Given the description of an element on the screen output the (x, y) to click on. 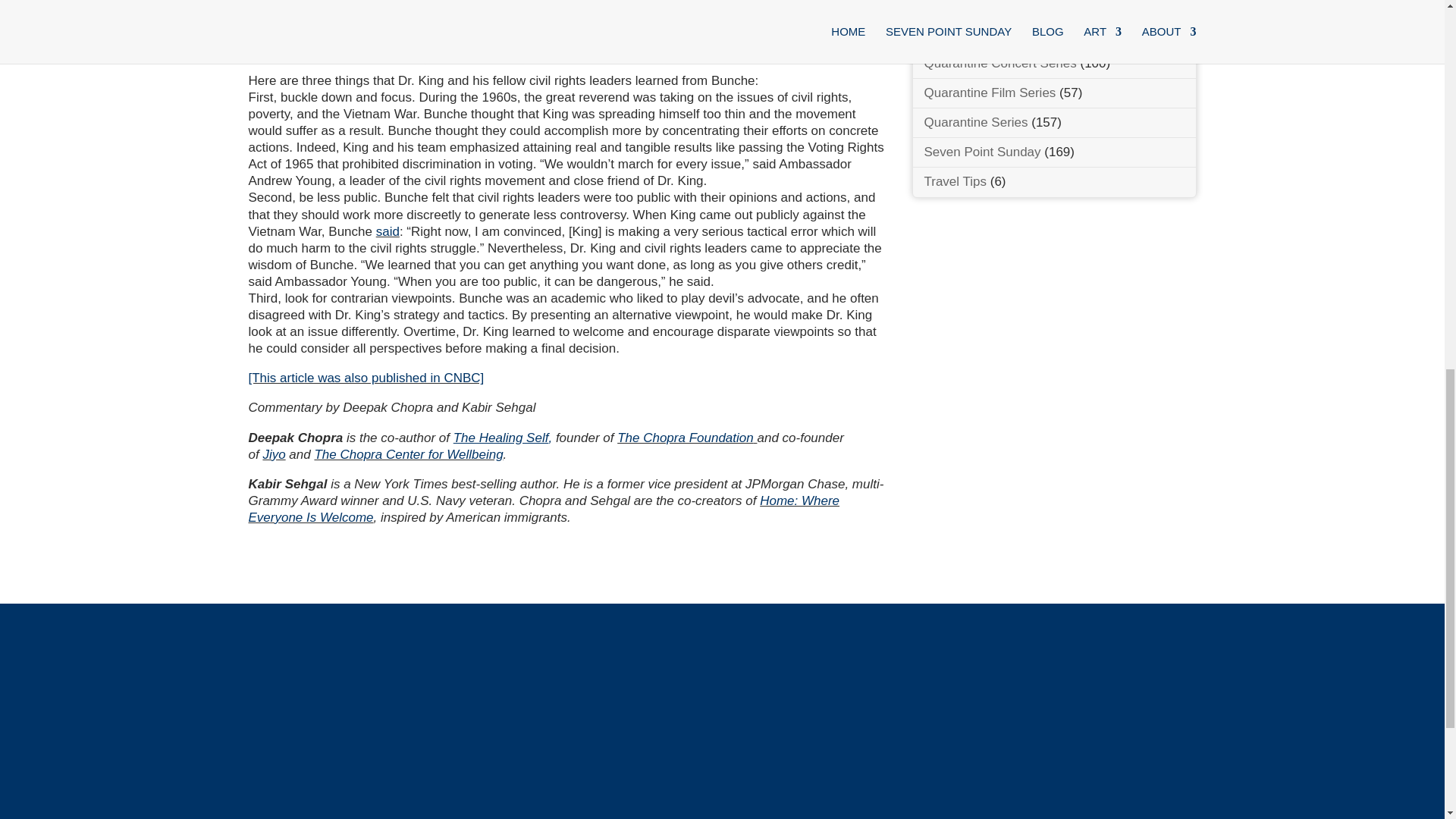
Quarantine Series (975, 122)
Jiyo (273, 454)
Portfolio Career (968, 33)
The Chopra Center for Wellbeing (408, 454)
Home: Where Everyone Is Welcome (544, 508)
Quarantine Film Series (989, 92)
Seven Point Sunday (982, 151)
The Healing Self, (501, 437)
Quarantine Concert Series (999, 63)
The Chopra Foundation (685, 437)
